Given the description of an element on the screen output the (x, y) to click on. 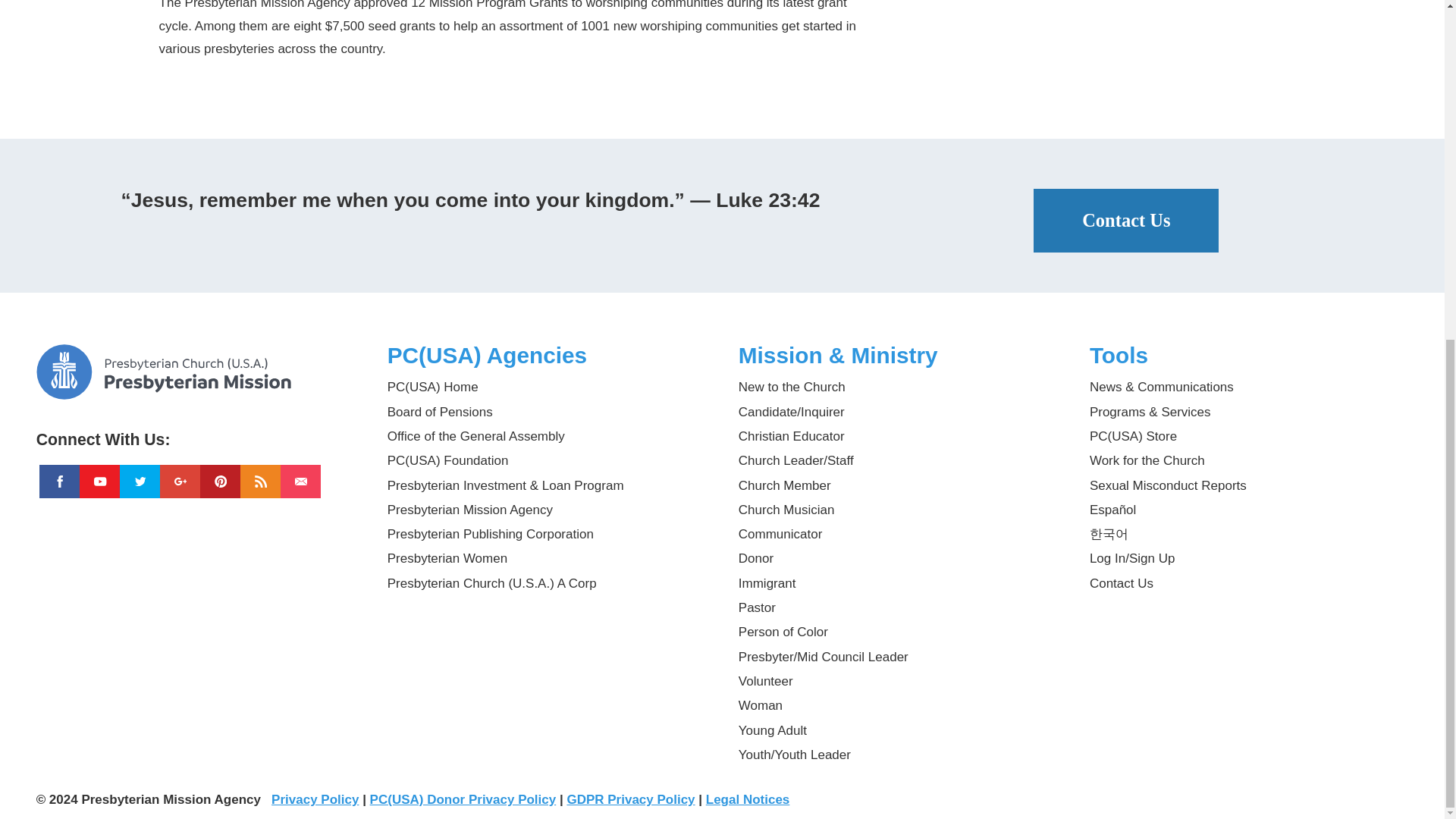
Follow Us on Social Media (195, 433)
